Given the description of an element on the screen output the (x, y) to click on. 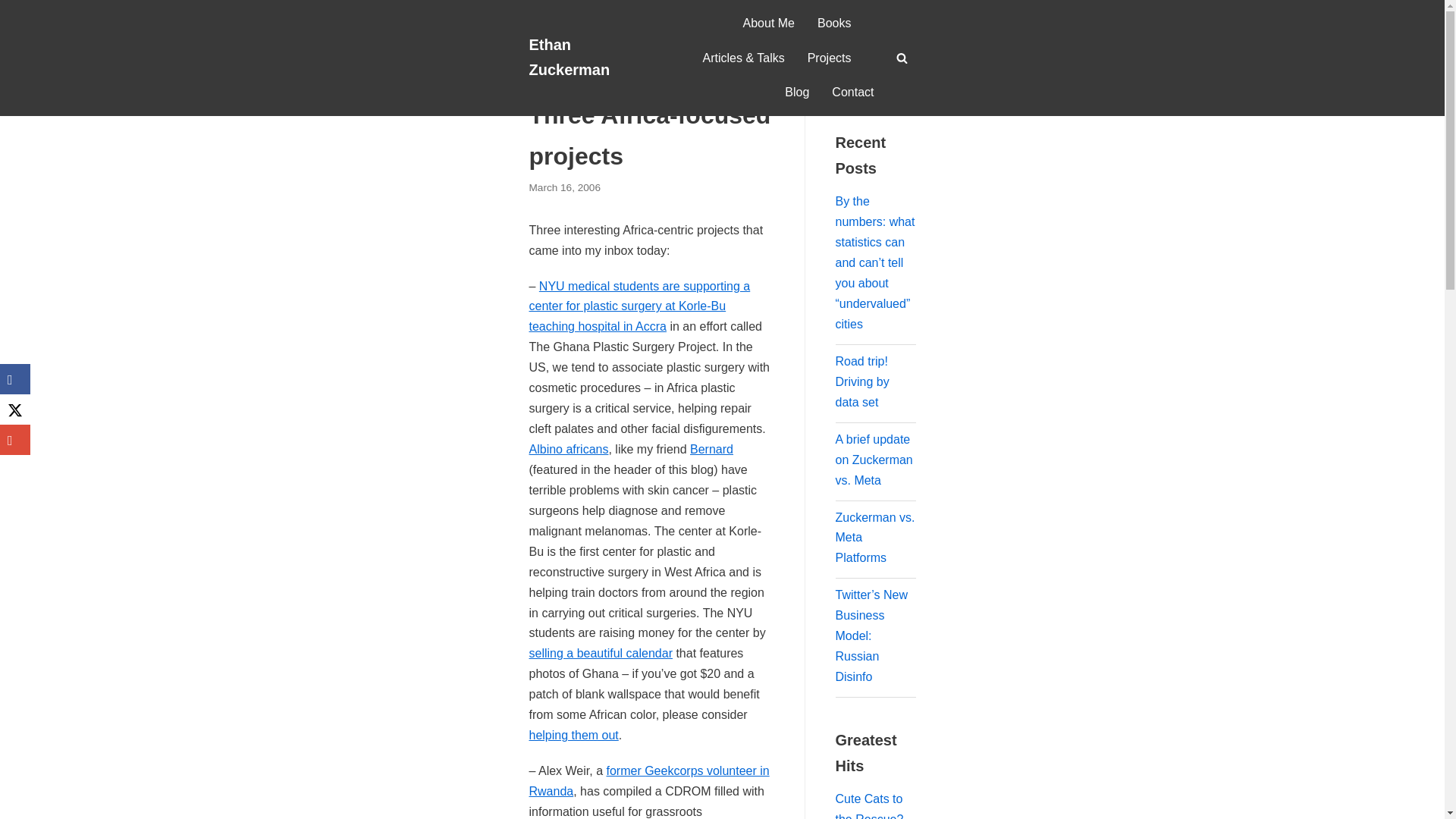
Search (897, 409)
Blog (796, 92)
Search (897, 87)
Contact (852, 92)
Ethan Zuckerman (586, 57)
Ethan Zuckerman (586, 57)
Blog (577, 84)
Skip to content (15, 31)
former Geekcorps volunteer in Rwanda (649, 780)
selling a beautiful calendar (600, 653)
Africa (611, 84)
helping them out (573, 735)
About Me (768, 23)
Books (833, 23)
Projects (829, 57)
